Given the description of an element on the screen output the (x, y) to click on. 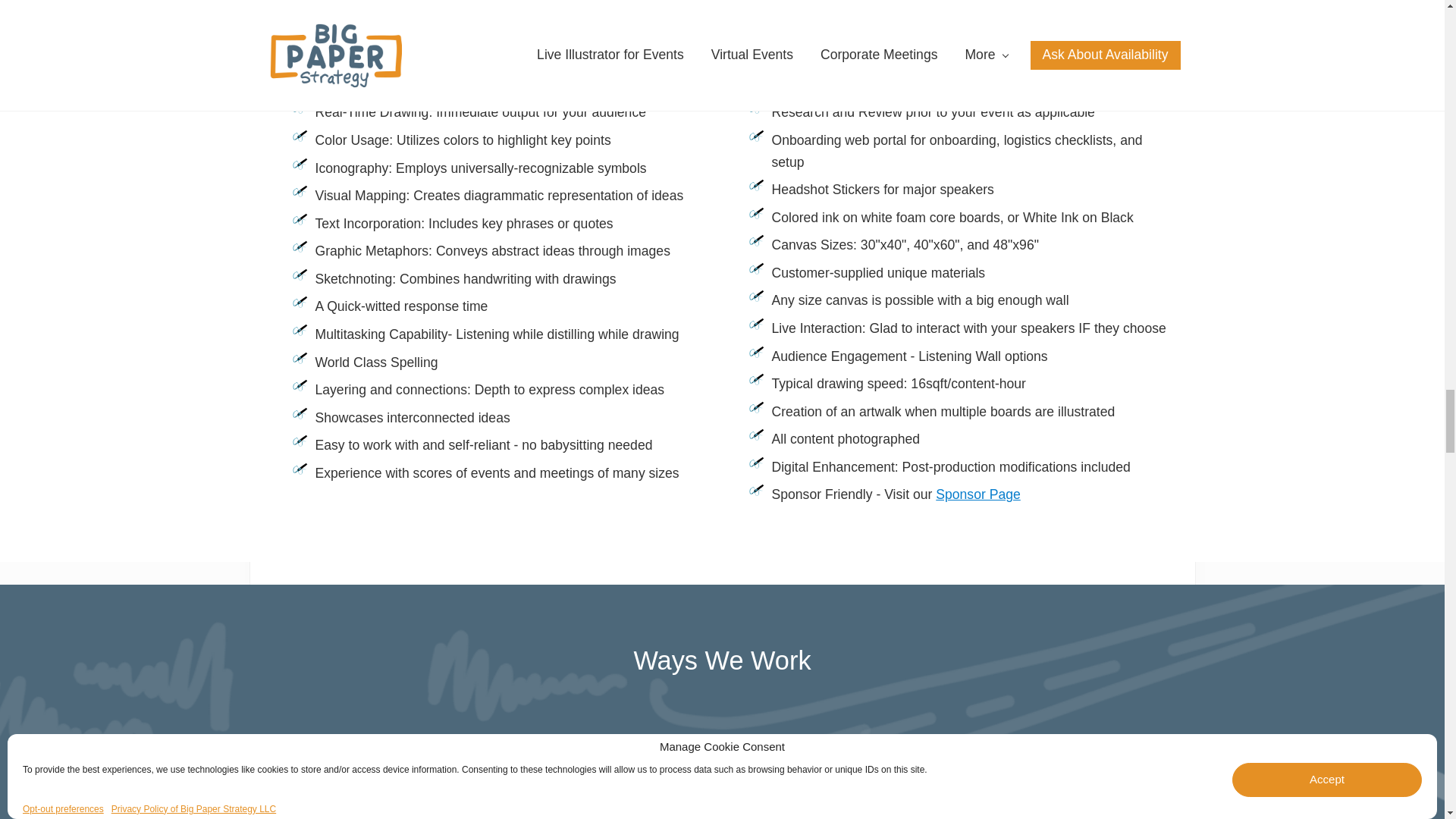
Virtual Conference and Webinar Illustration (977, 778)
Graphic Recording (466, 778)
Strategic Planning (721, 778)
